Given the description of an element on the screen output the (x, y) to click on. 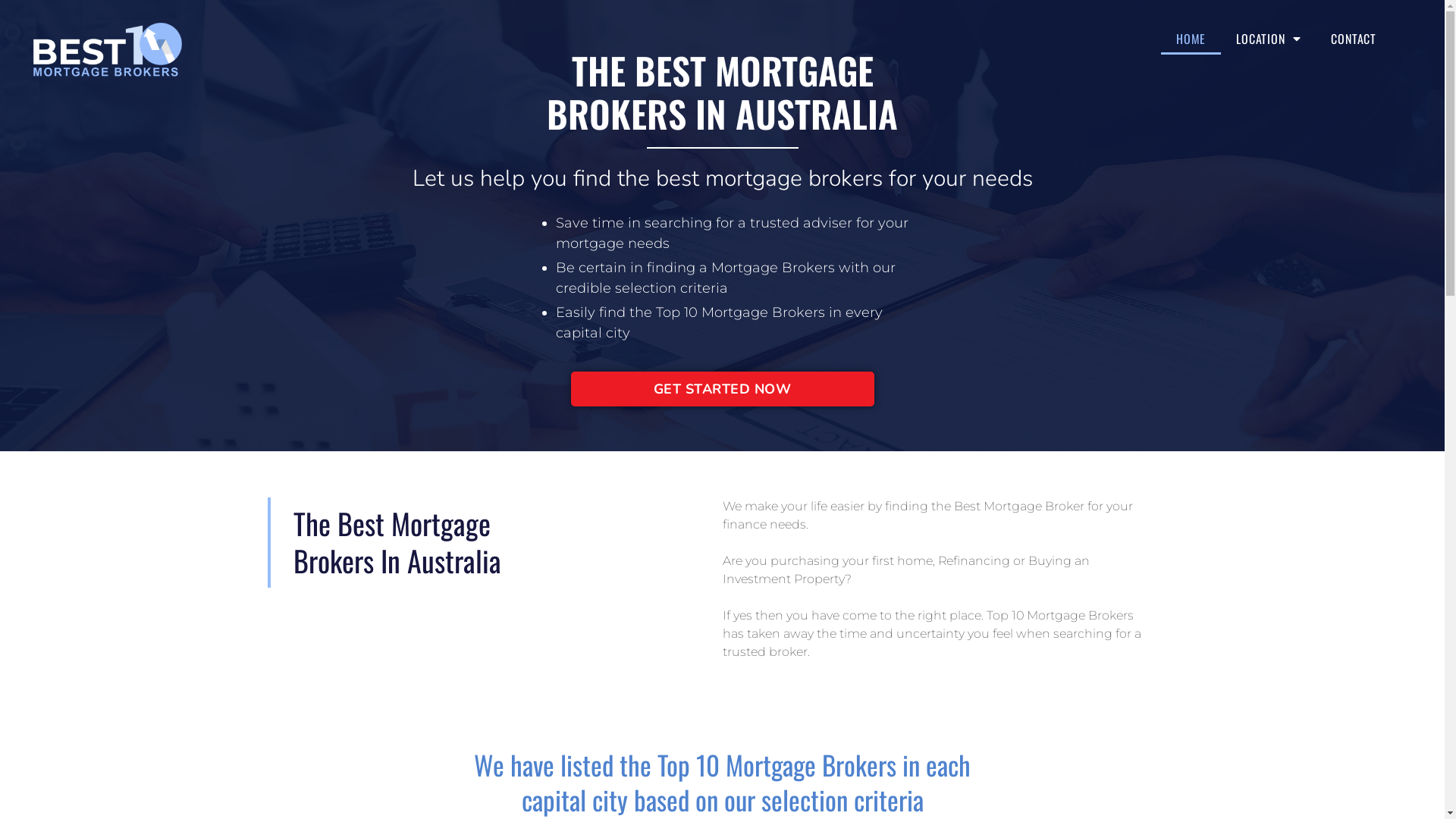
HOME Element type: text (1190, 38)
CONTACT Element type: text (1353, 38)
LOCATION Element type: text (1267, 38)
GET STARTED NOW Element type: text (721, 388)
